Given the description of an element on the screen output the (x, y) to click on. 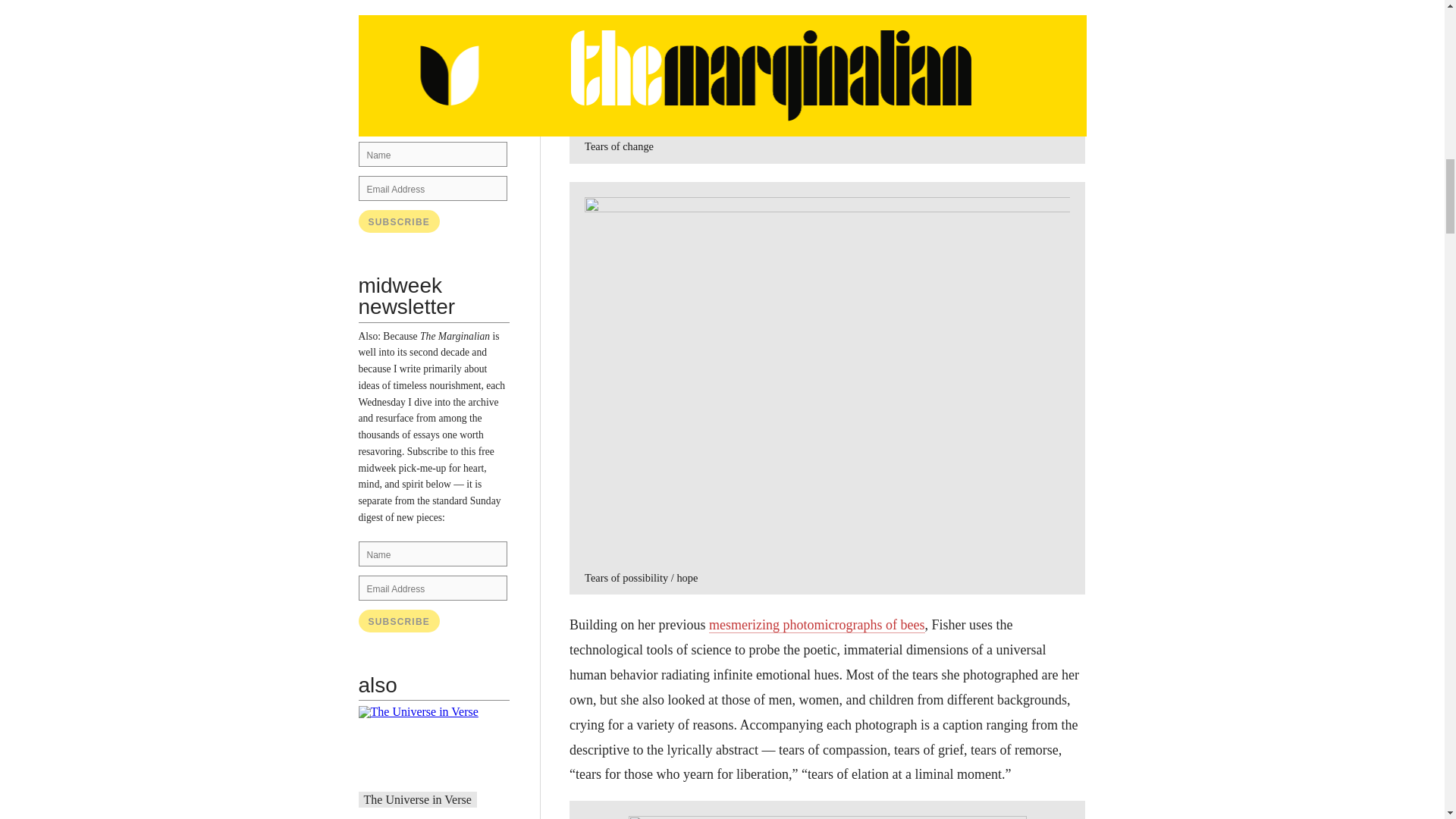
example (449, 101)
The Universe in Verse (417, 799)
Subscribe (398, 620)
Subscribe (398, 220)
Subscribe (398, 220)
Subscribe (398, 620)
